Given the description of an element on the screen output the (x, y) to click on. 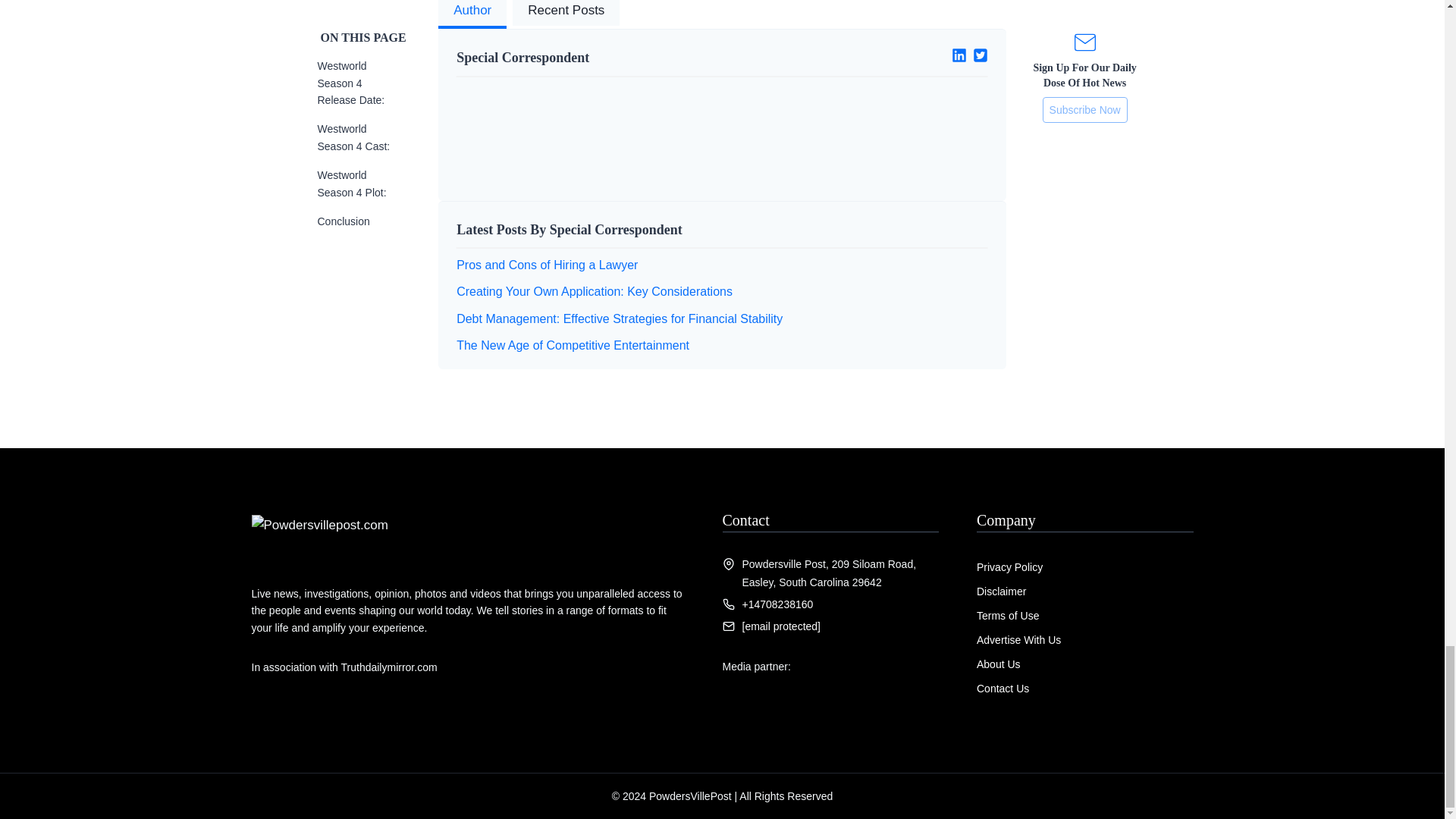
Creating Your Own Application: Key Considerations (594, 291)
Terms of Use (1007, 615)
Author (472, 14)
Disclaimer (1001, 591)
Pros and Cons of Hiring a Lawyer (547, 264)
Special Correspondent (583, 57)
The New Age of Competitive Entertainment (572, 345)
Recent Posts (566, 14)
Privacy Policy (1009, 567)
